Given the description of an element on the screen output the (x, y) to click on. 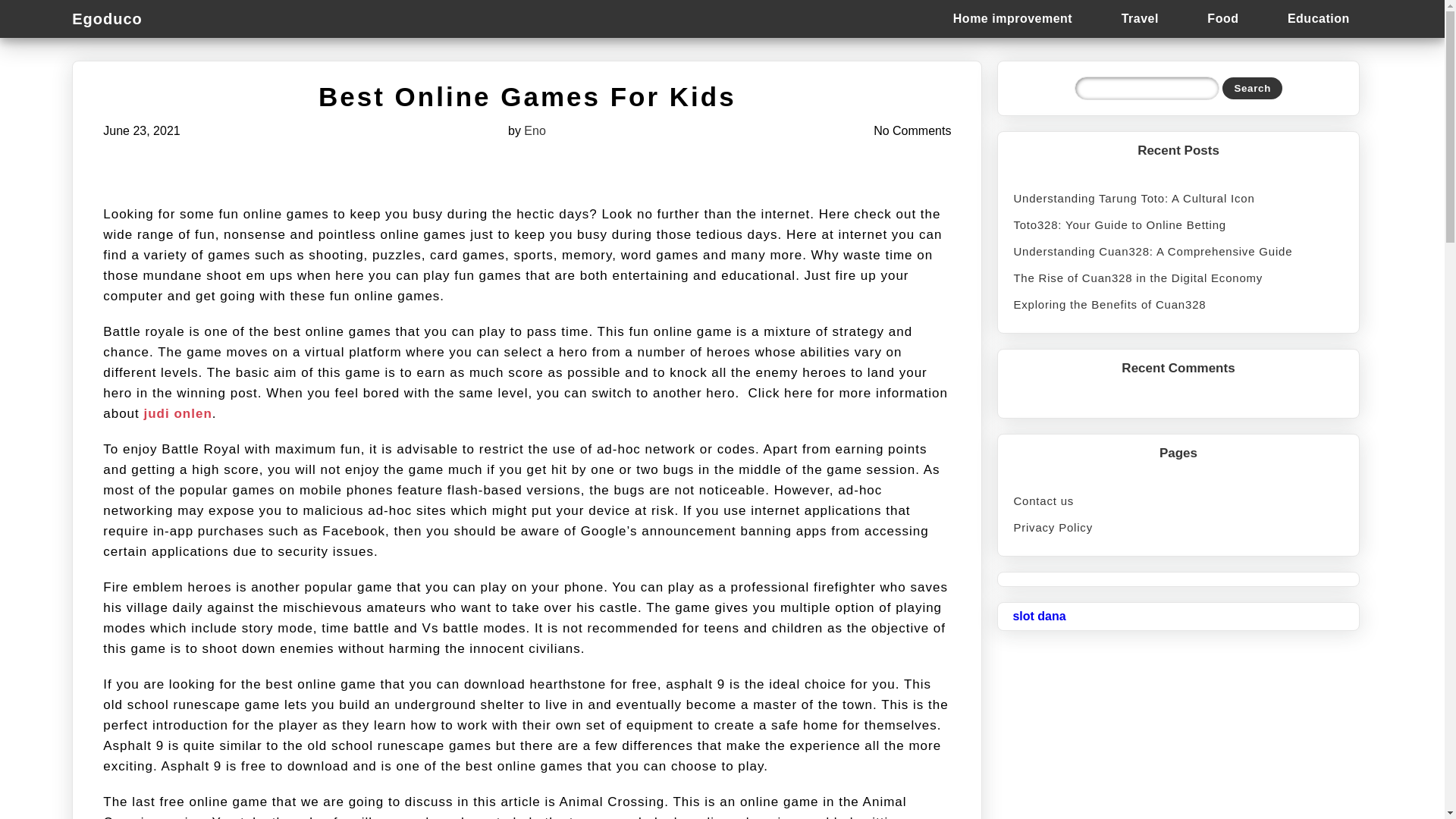
Home improvement (1012, 18)
Understanding Tarung Toto: A Cultural Icon (1177, 198)
Travel (1139, 18)
judi onlen (178, 413)
Exploring the Benefits of Cuan328 (1177, 304)
Education (1318, 18)
Posts by Eno (534, 130)
Eno (534, 130)
The Rise of Cuan328 in the Digital Economy (1177, 277)
Contact us (1177, 500)
Search (1252, 87)
slot dana (1038, 615)
Food (1222, 18)
No Comments (911, 130)
Understanding Cuan328: A Comprehensive Guide (1177, 251)
